Given the description of an element on the screen output the (x, y) to click on. 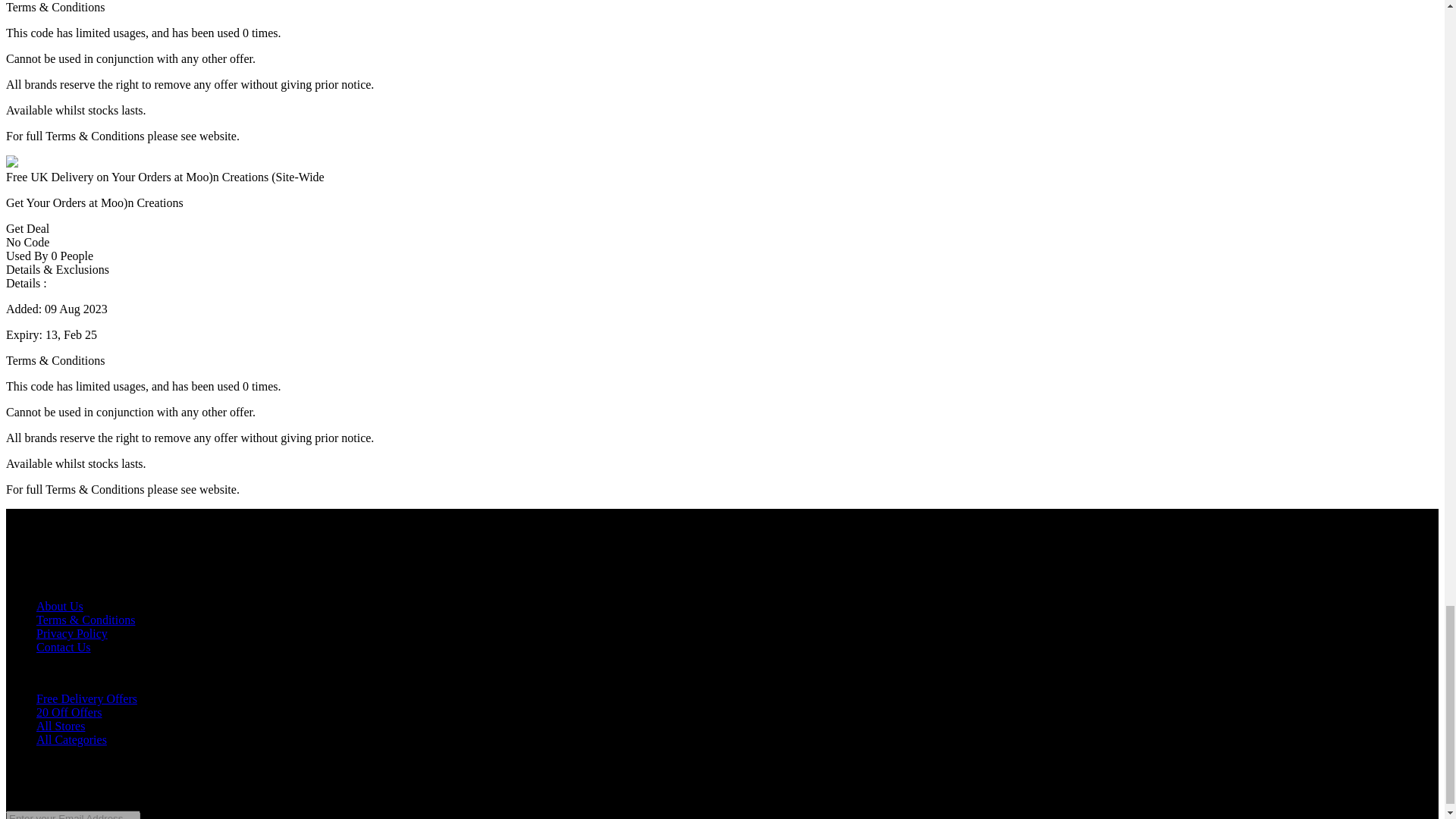
About Us (59, 605)
Privacy Policy (71, 633)
